Given the description of an element on the screen output the (x, y) to click on. 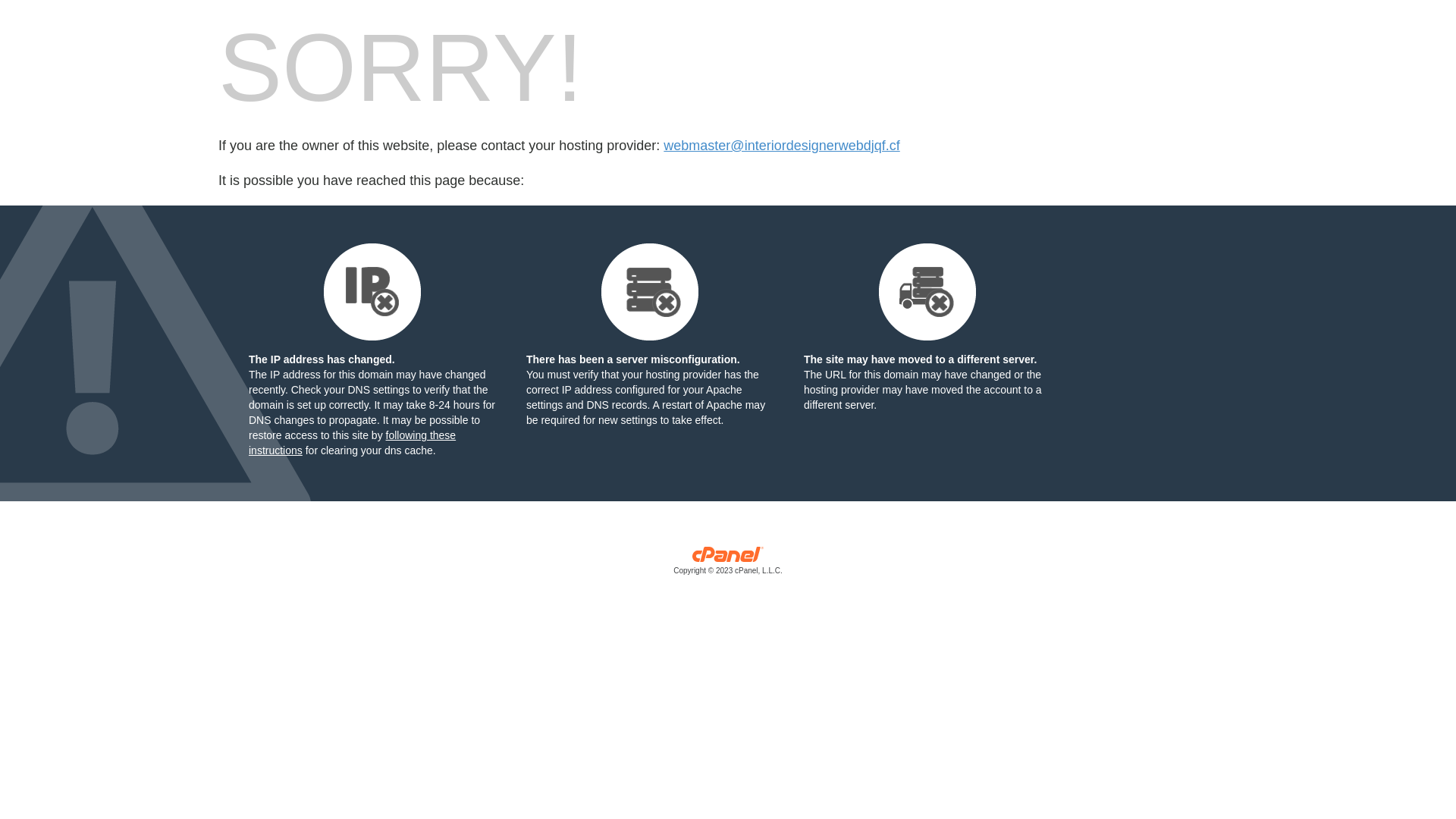
webmaster@interiordesignerwebdjqf.cf Element type: text (781, 145)
following these instructions Element type: text (351, 442)
